Given the description of an element on the screen output the (x, y) to click on. 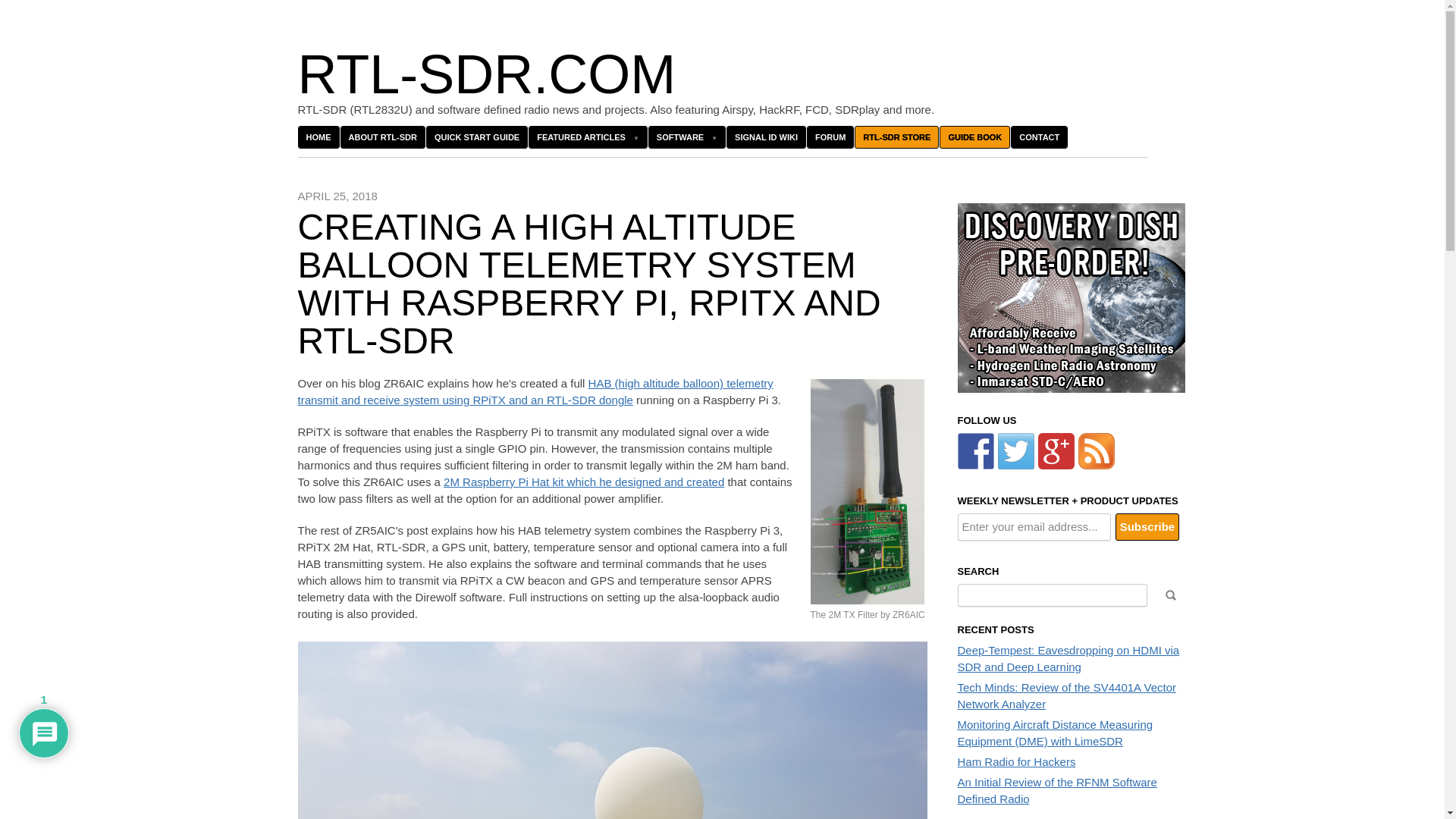
FEATURED ARTICLES (587, 137)
rtl-sdr.com (486, 74)
HOME (318, 137)
RTL-SDR.COM (486, 74)
QUICK START GUIDE (476, 137)
ABOUT RTL-SDR (382, 137)
Enter your email address... (1032, 526)
Subscribe (1147, 526)
